Given the description of an element on the screen output the (x, y) to click on. 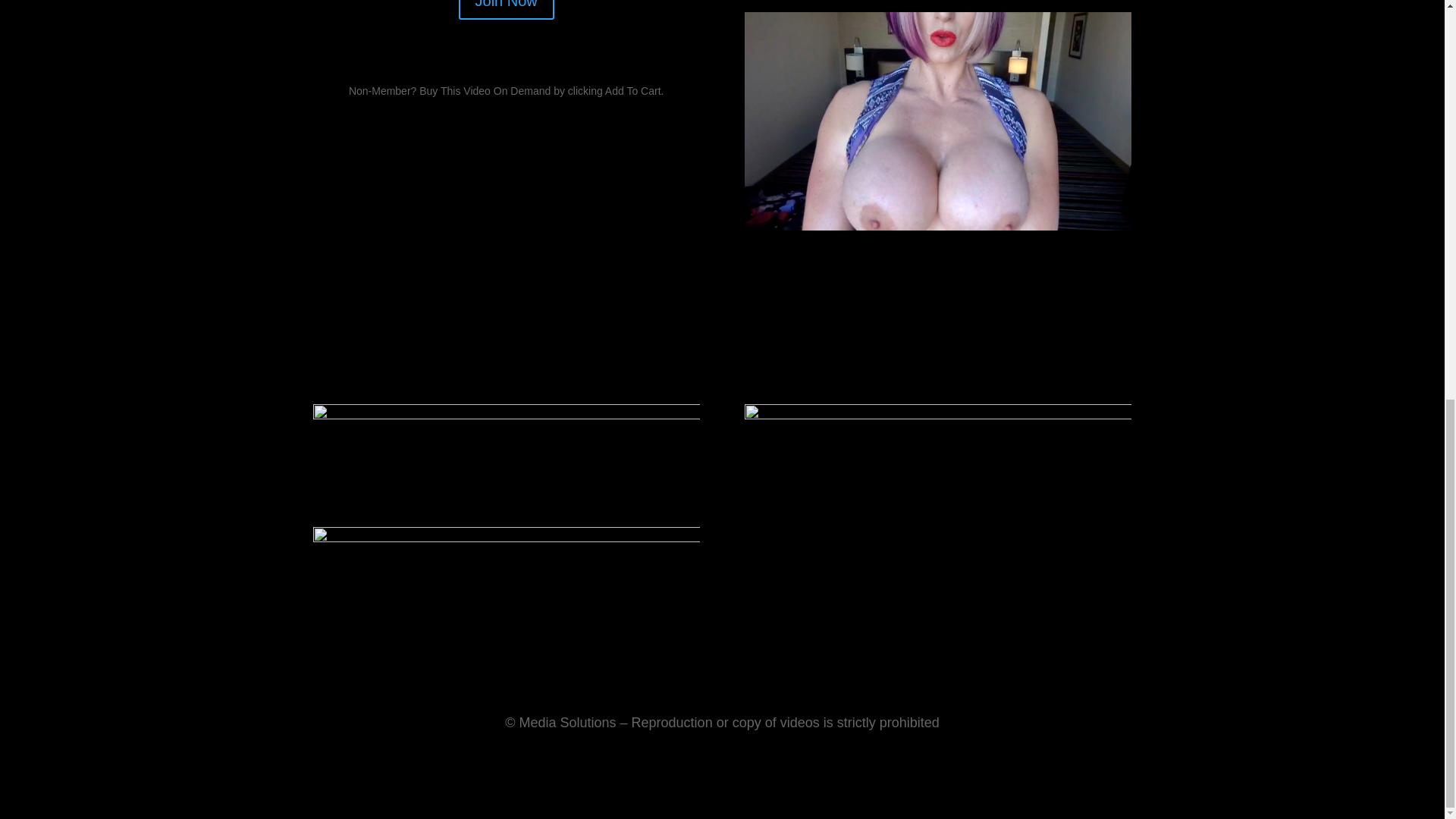
BB-Banner-1 (505, 454)
Screen Shot 2023-10-31 at 92751 AM (937, 226)
HerSockSlave Banner (505, 591)
Join Now (506, 9)
